Given the description of an element on the screen output the (x, y) to click on. 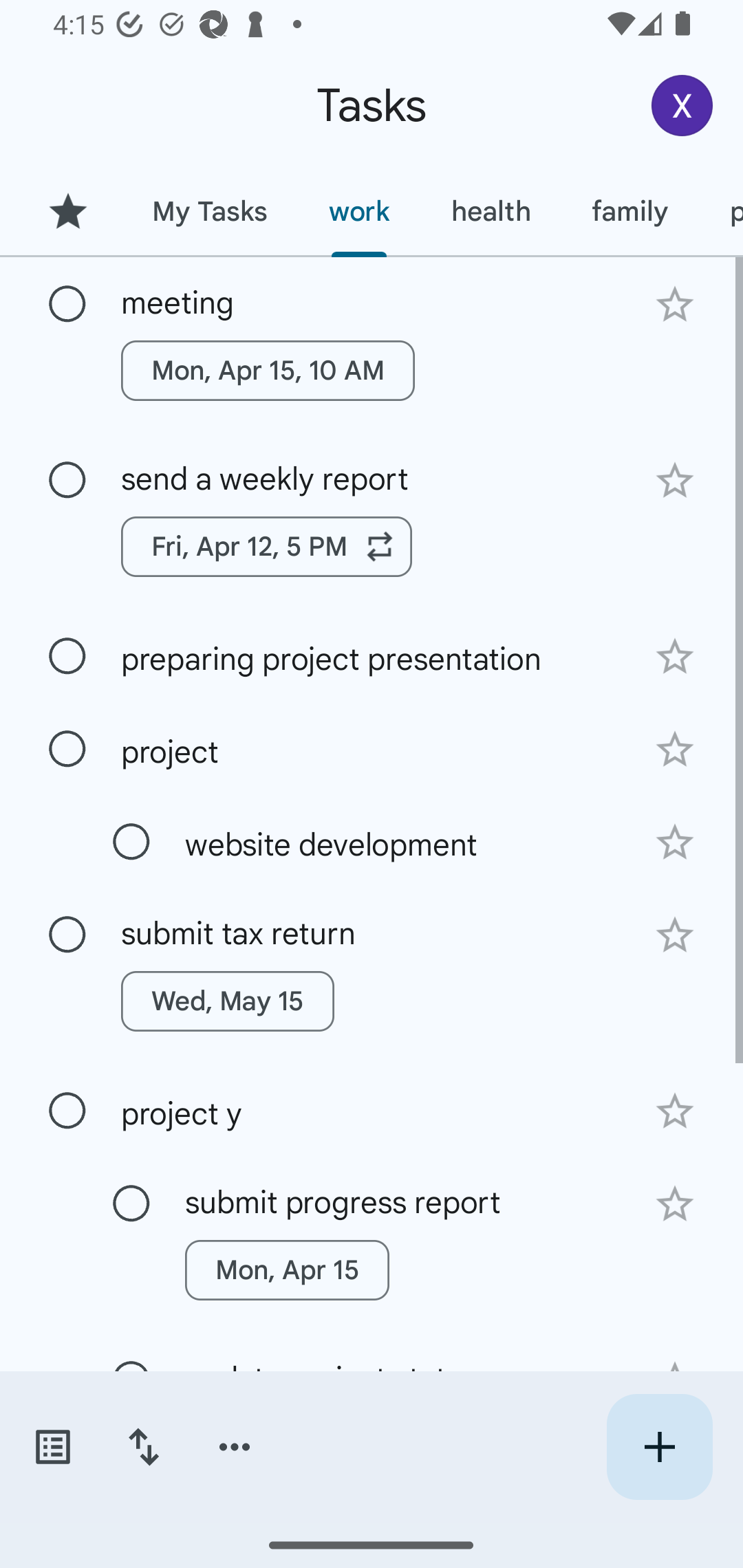
Starred (67, 211)
My Tasks (209, 211)
health (490, 211)
family (629, 211)
Add star (674, 303)
Mark as complete (67, 304)
Mon, Apr 15, 10 AM (267, 369)
Add star (674, 480)
Mark as complete (67, 480)
Fri, Apr 12, 5 PM (266, 546)
Add star (674, 656)
Mark as complete (67, 655)
Add star (674, 749)
Mark as complete (67, 750)
Add star (674, 841)
Mark as complete (131, 842)
Add star (674, 935)
Mark as complete (67, 935)
Wed, May 15 (227, 1001)
Add star (674, 1111)
Mark as complete (67, 1110)
Add star (674, 1203)
Mark as complete (131, 1204)
Mon, Apr 15 (287, 1269)
Switch task lists (52, 1447)
Create new task (659, 1446)
Change sort order (143, 1446)
More options (234, 1446)
